Given the description of an element on the screen output the (x, y) to click on. 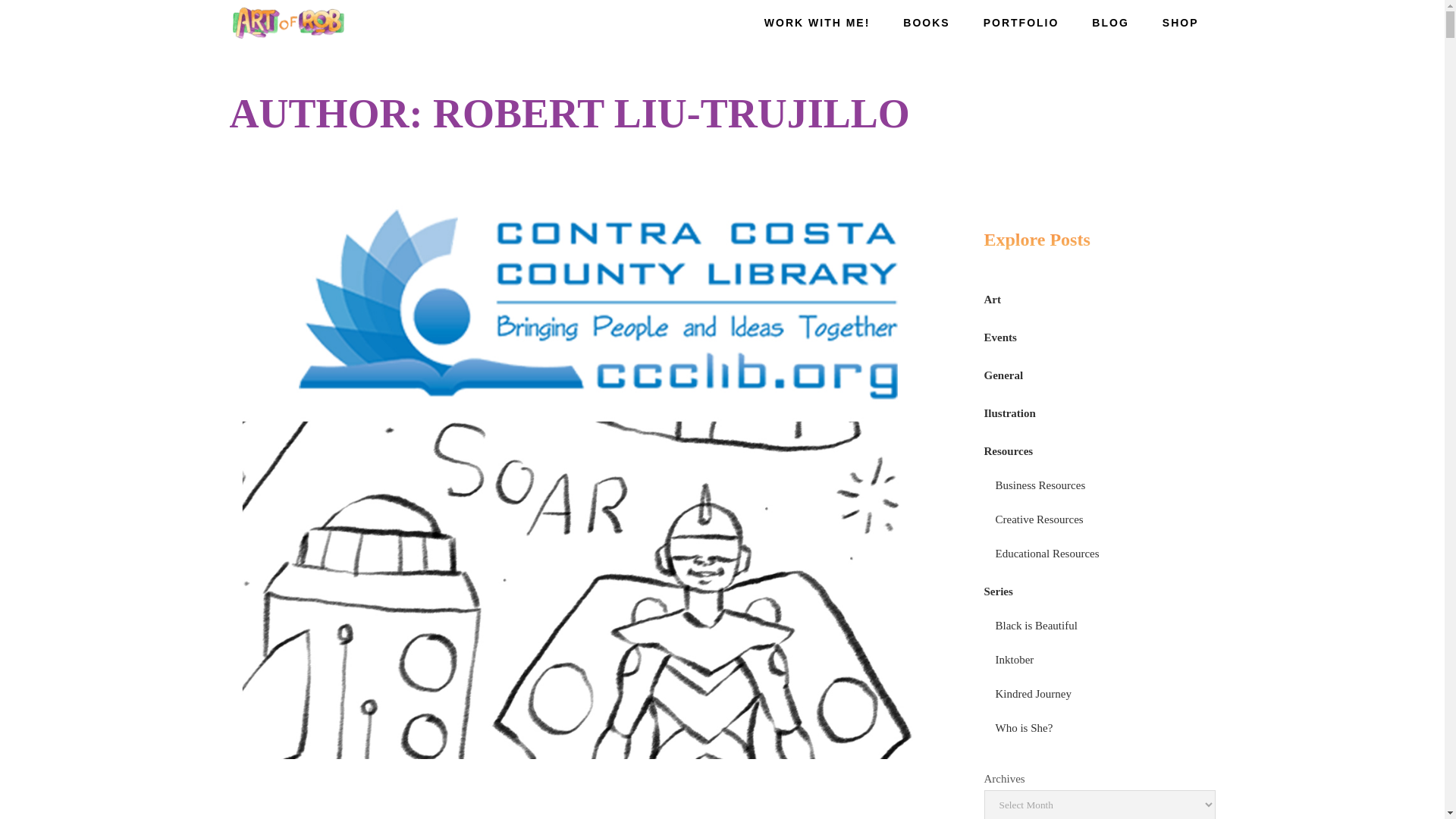
WORK WITH ME! (817, 22)
SHOP (1180, 22)
BOOKS (926, 22)
BLOG (1109, 22)
PORTFOLIO (1020, 22)
Contra Costa County Library-Afro futurist Coloring Sheet (590, 480)
